Given the description of an element on the screen output the (x, y) to click on. 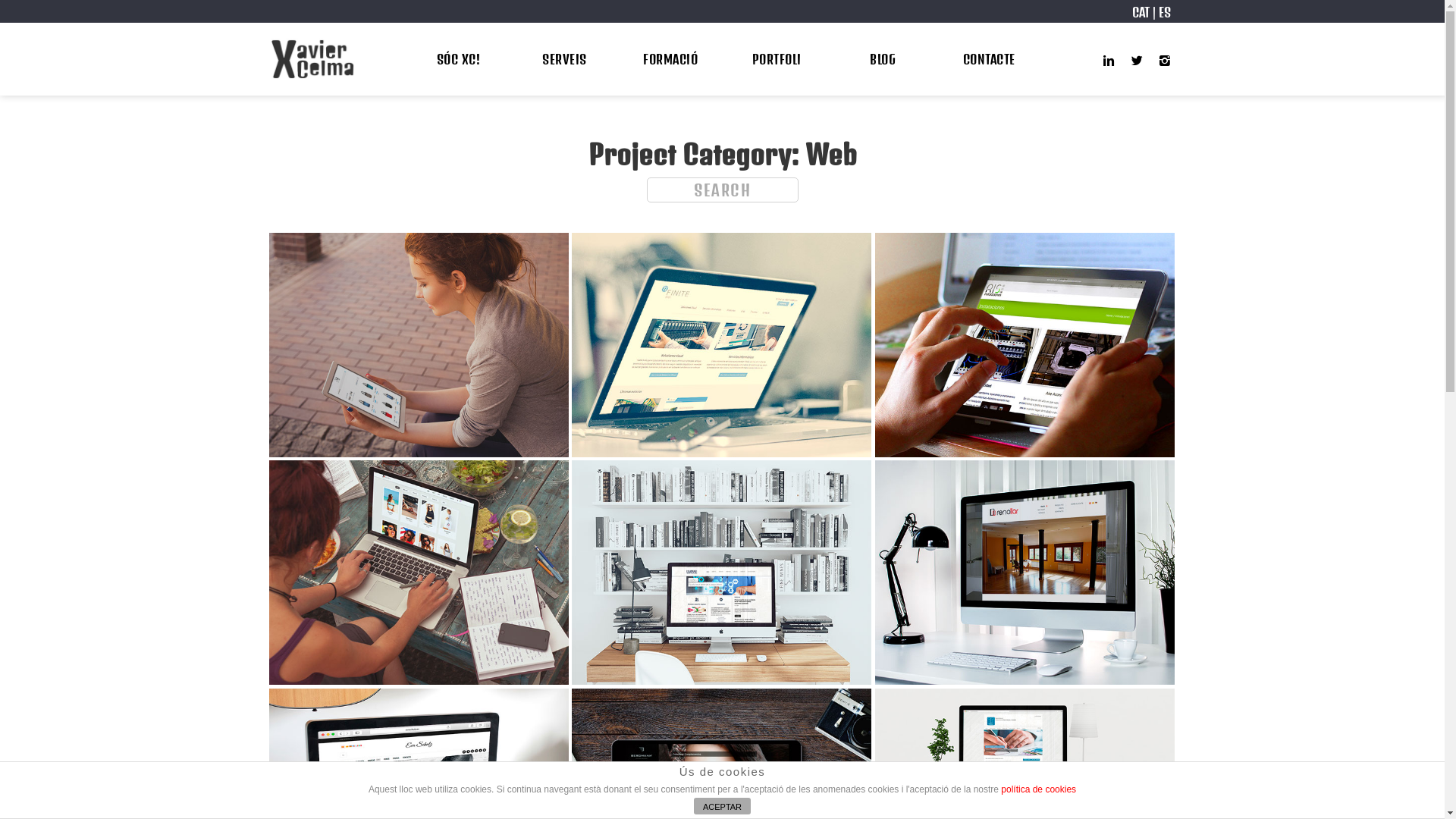
RIS Instalaciones Element type: hover (1025, 345)
PORTFOLI Element type: text (776, 58)
Nfinite9000 Element type: hover (721, 345)
BLOG Element type: text (882, 58)
CAT | Element type: text (1143, 11)
Renollar Element type: hover (1025, 572)
Uvame Element type: hover (721, 572)
ACEPTAR Element type: text (721, 805)
SERVEIS Element type: text (564, 58)
Peter & Wolf BCN Element type: hover (418, 345)
CONTACTE Element type: text (988, 58)
ES Element type: text (1164, 11)
Dulceida Shop Element type: hover (418, 572)
